Given the description of an element on the screen output the (x, y) to click on. 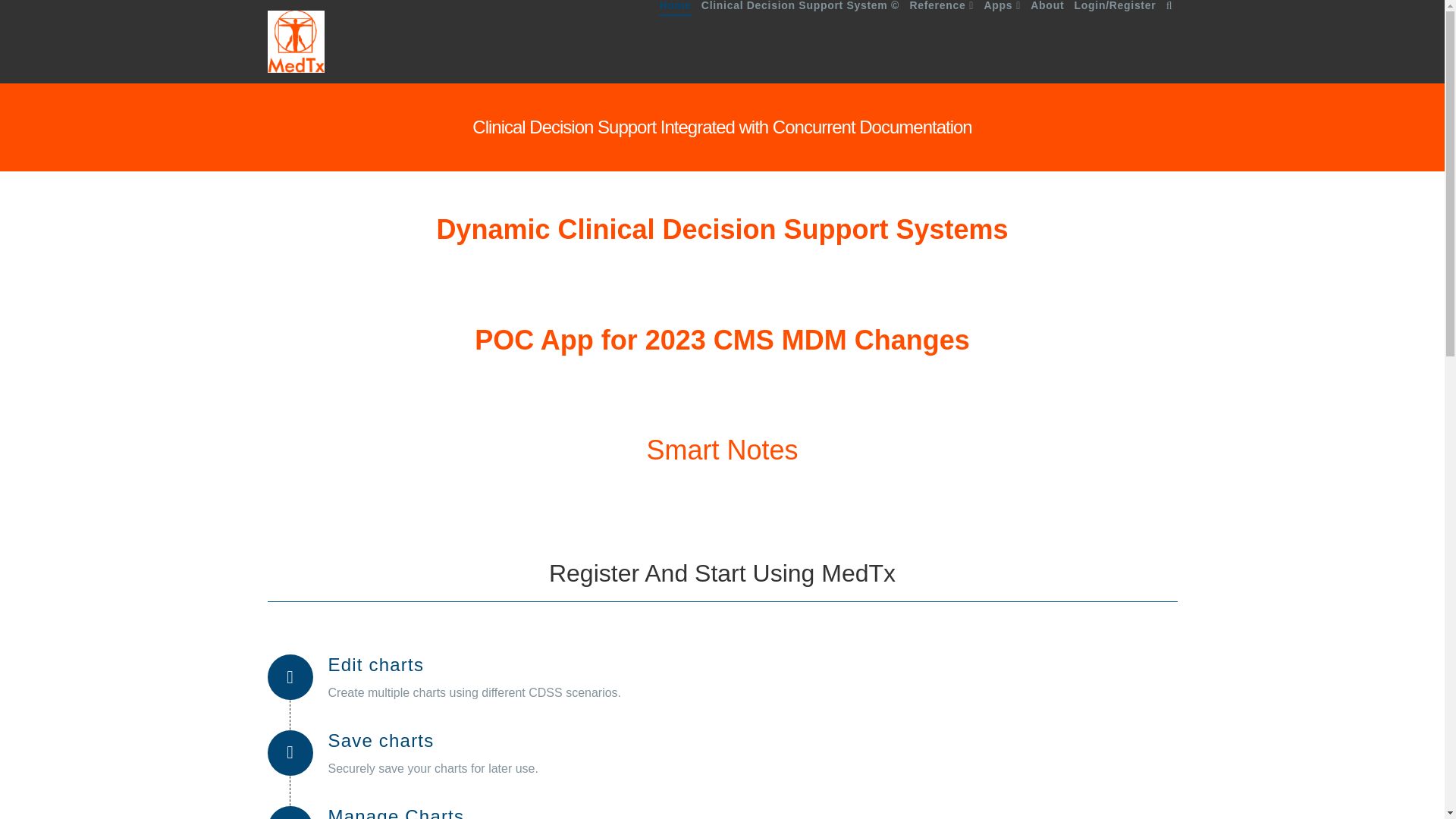
Smart Notes (721, 450)
Reference (941, 41)
POC App for 2023 CMS MDM Changes (721, 339)
